Given the description of an element on the screen output the (x, y) to click on. 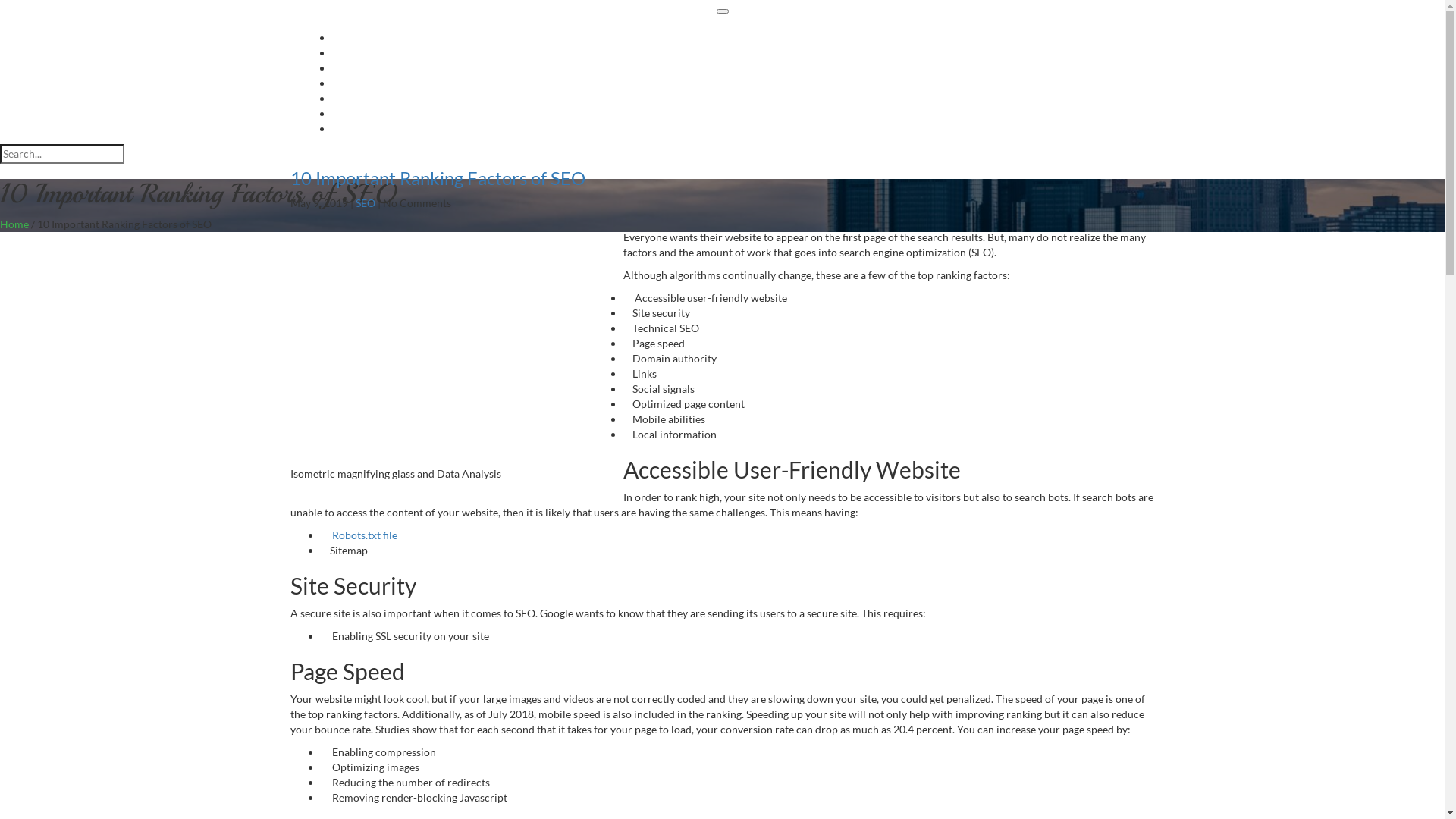
Paid Ads Element type: text (737, 37)
Content Marketing Element type: text (737, 82)
Social Media Element type: text (737, 52)
Home Element type: text (14, 223)
About Element type: text (737, 97)
SEO Element type: text (364, 202)
S.E.O. Element type: text (737, 67)
Robots.txt file Element type: text (364, 534)
Contact Us Element type: text (737, 112)
10 Important Ranking Factors of SEO Element type: text (436, 177)
